Given the description of an element on the screen output the (x, y) to click on. 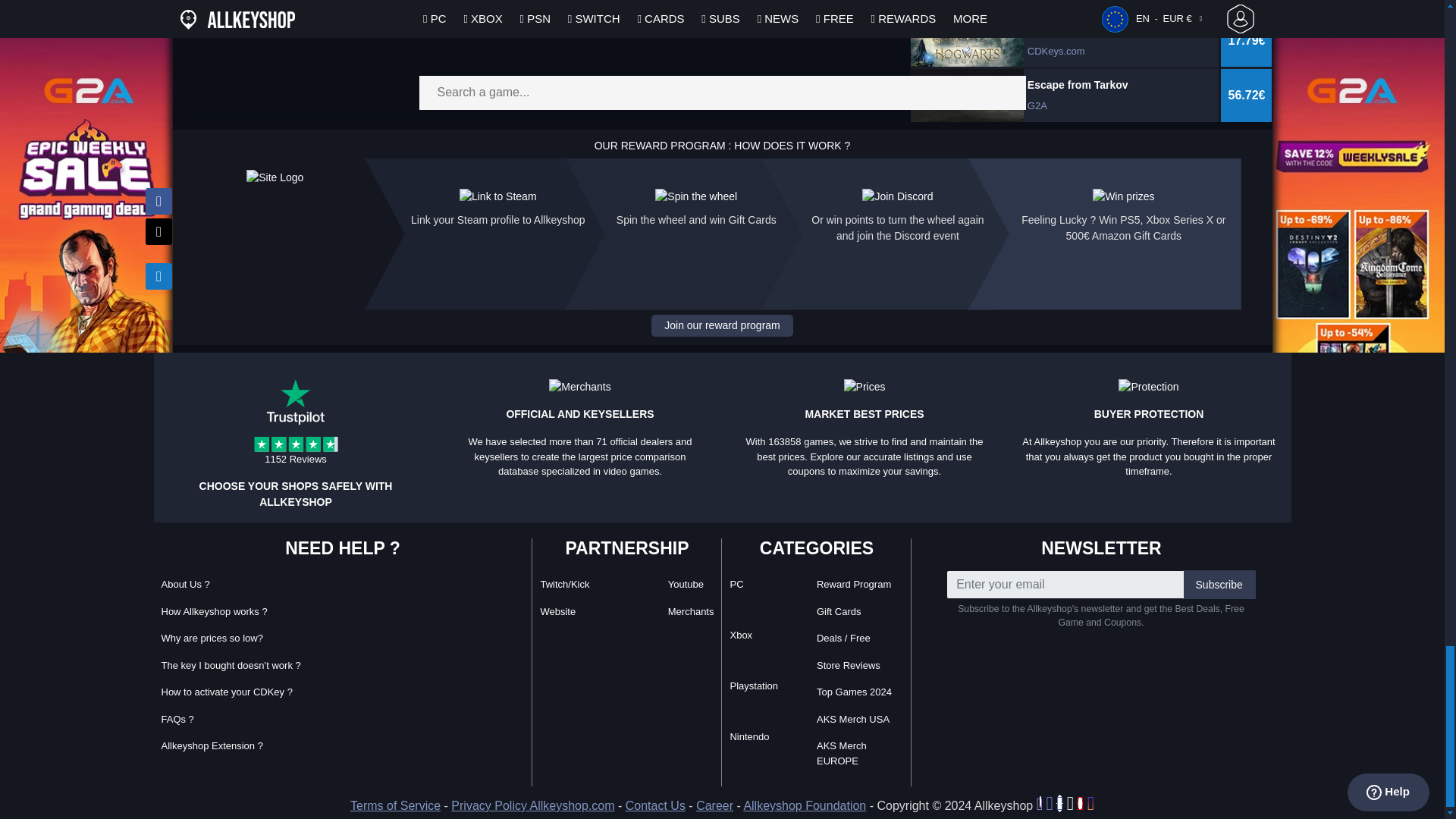
Subscribe (1218, 584)
